Given the description of an element on the screen output the (x, y) to click on. 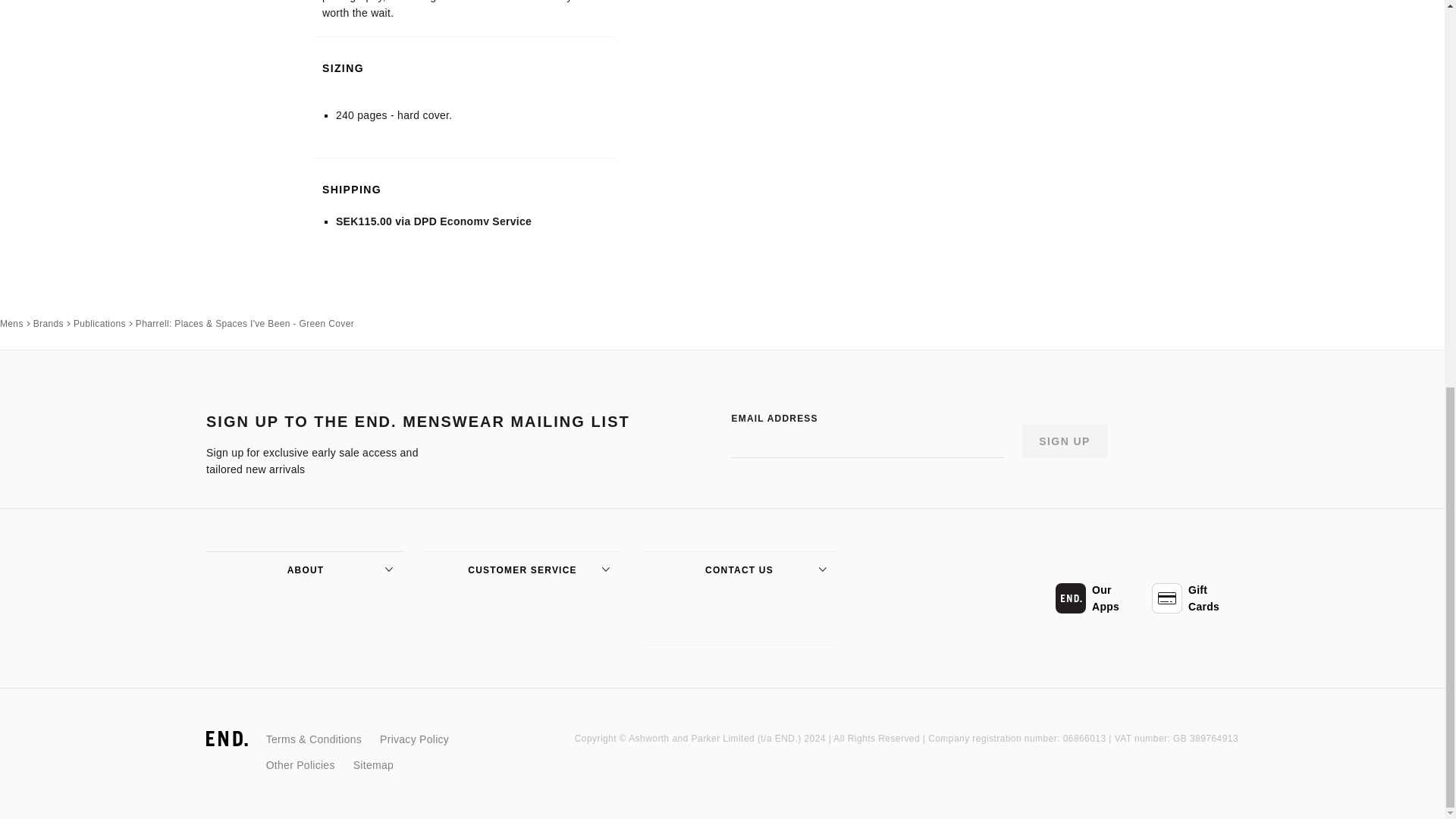
Mens (11, 323)
Privacy Policy (414, 739)
Publications (99, 323)
Other Policies (300, 764)
Brands (48, 323)
SIGN UP (1065, 441)
Gift Cards (1195, 598)
Sitemap (373, 764)
Our Apps (1097, 598)
